Given the description of an element on the screen output the (x, y) to click on. 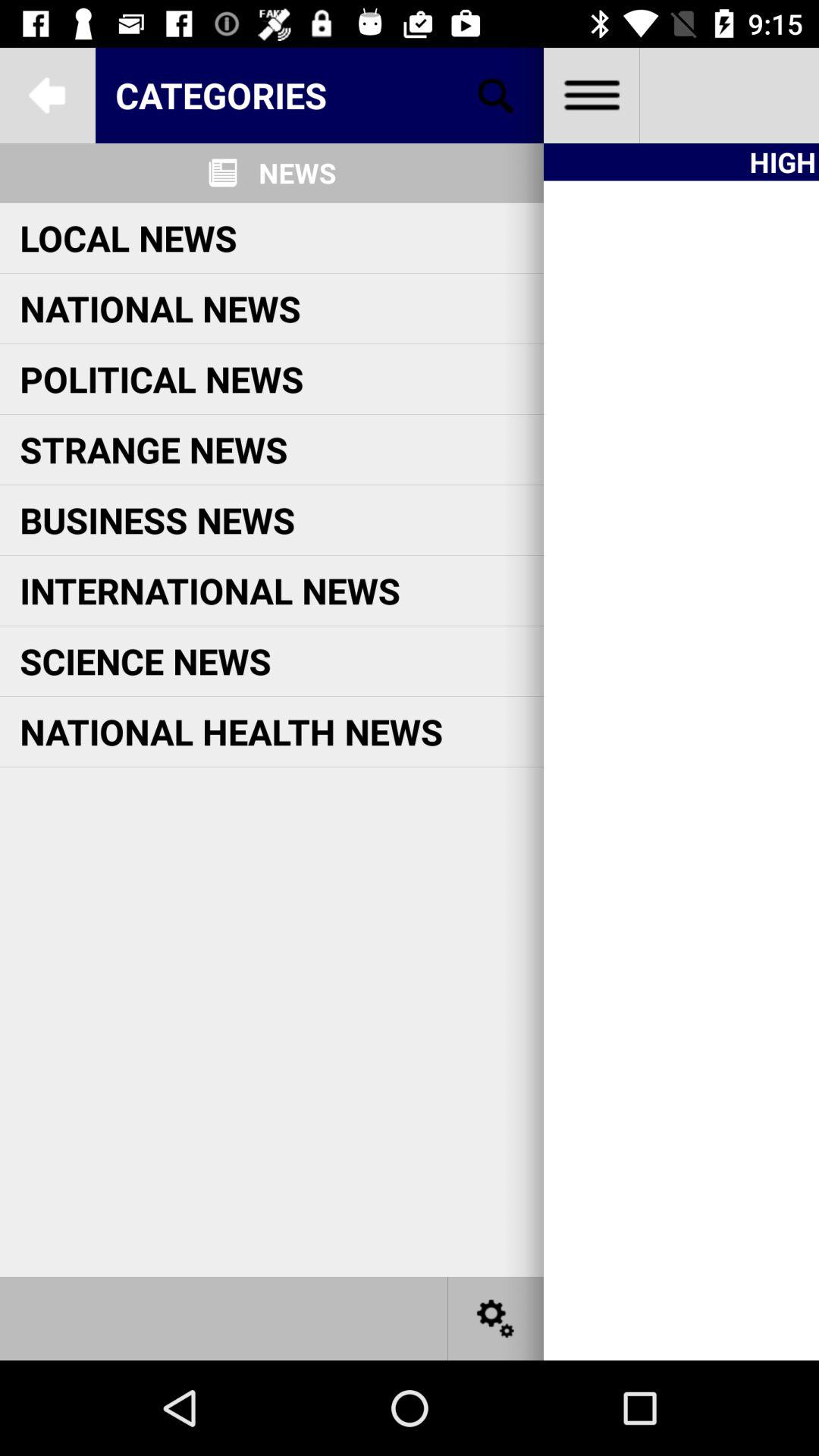
zoom in (495, 95)
